Given the description of an element on the screen output the (x, y) to click on. 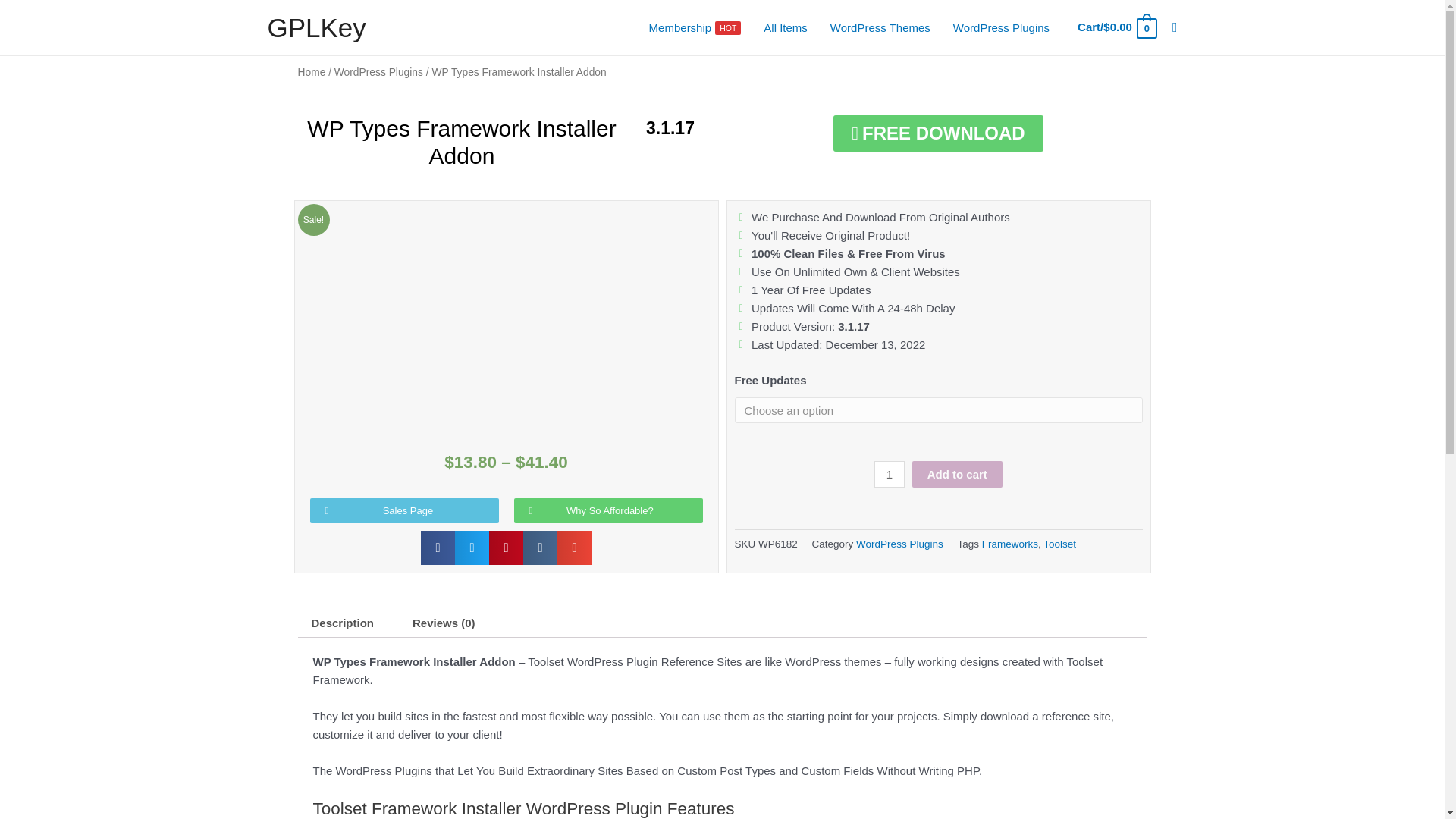
WordPress Plugins (1001, 27)
All Items (785, 27)
WordPress Themes (694, 27)
1 (880, 27)
GPLKey (889, 474)
